Given the description of an element on the screen output the (x, y) to click on. 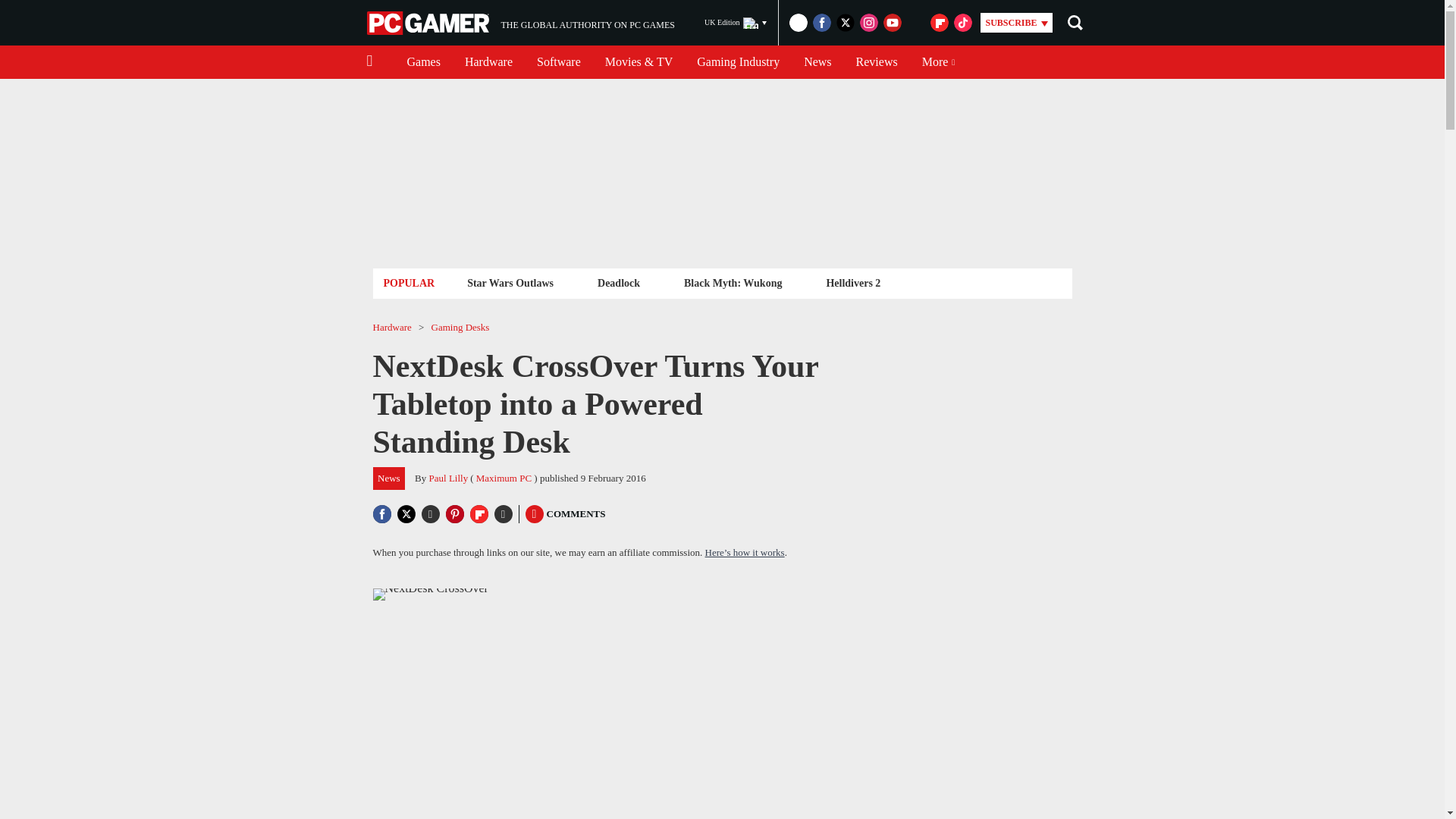
Reviews (877, 61)
Games (422, 61)
Gaming Industry (738, 61)
Hardware (488, 61)
Star Wars Outlaws (510, 282)
PC Gamer (429, 22)
UK Edition (735, 22)
Deadlock (618, 282)
News (520, 22)
